Given the description of an element on the screen output the (x, y) to click on. 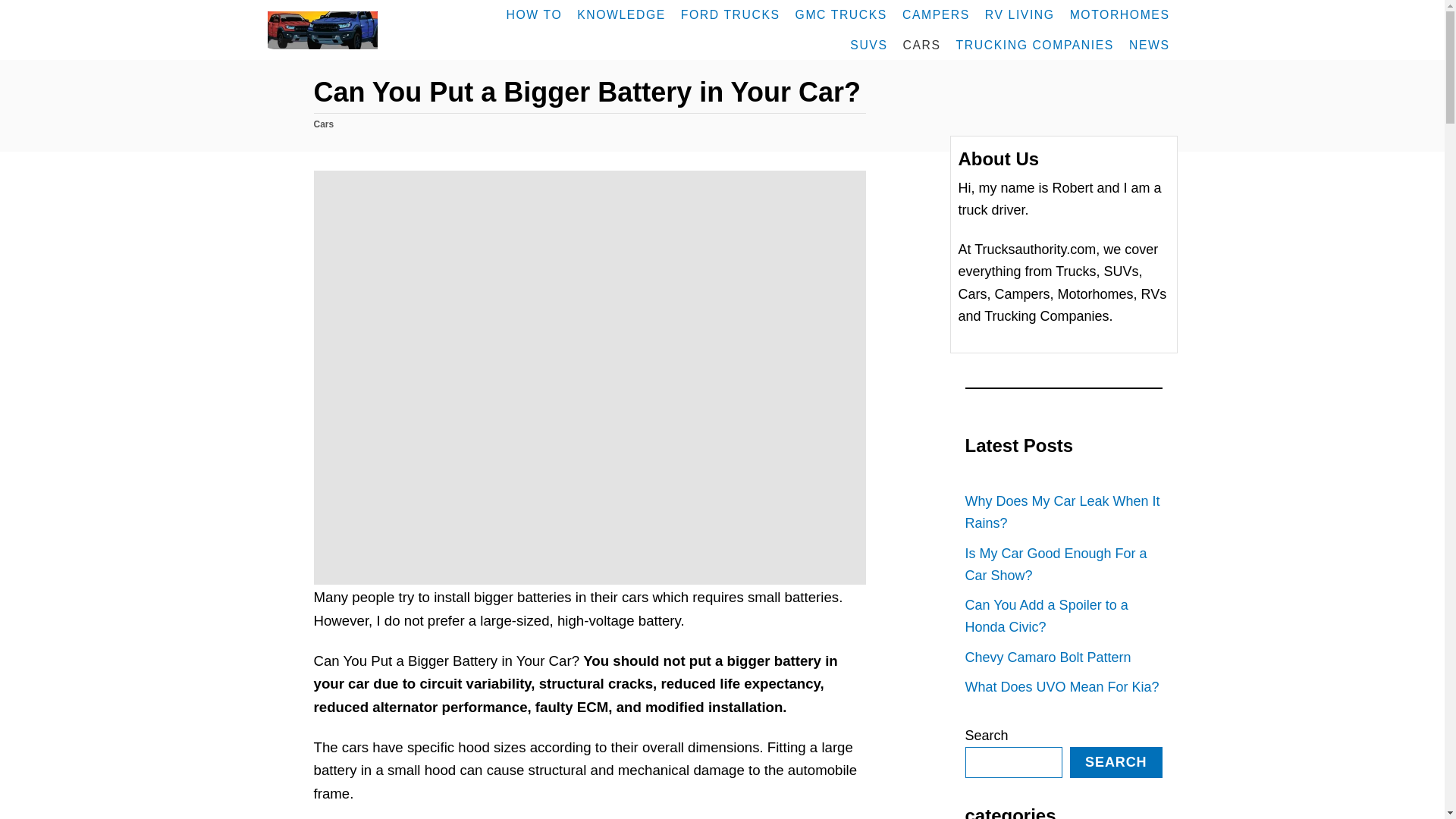
CAMPERS (935, 15)
KNOWLEDGE (620, 15)
FORD TRUCKS (729, 15)
SEARCH (1115, 762)
CARS (922, 45)
Cars (324, 123)
MOTORHOMES (1119, 15)
Why Does My Car Leak When It Rains? (1062, 512)
Is My Car Good Enough For a Car Show? (1062, 564)
What Does UVO Mean For Kia? (1062, 686)
